Given the description of an element on the screen output the (x, y) to click on. 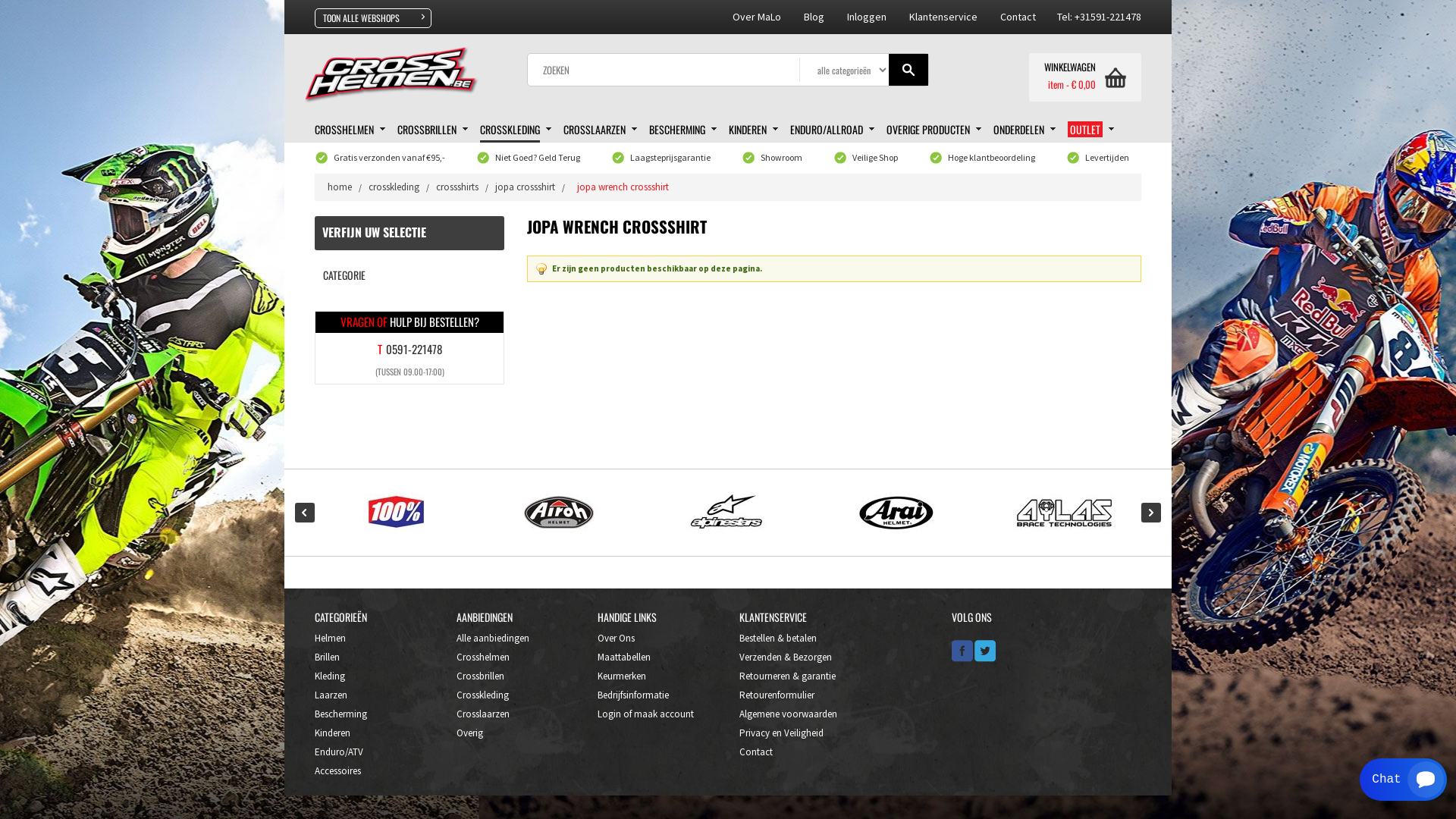
OUTLET Element type: text (1090, 129)
ENDURO/ALLROAD Element type: text (832, 129)
Privacy en Veiligheid Element type: text (781, 732)
Overig Element type: text (469, 732)
WINKELWAGEN Element type: text (1085, 69)
CROSSHELMEN Element type: text (349, 129)
Laarzen Element type: text (330, 694)
CROSSLAARZEN Element type: text (600, 129)
Kleding Element type: text (329, 674)
0591-221478 Element type: text (413, 348)
Over Ons Element type: text (615, 636)
Blog Element type: text (813, 16)
Bescherming Element type: text (340, 712)
Niet Goed? Geld Terug Element type: text (537, 157)
Prev Element type: text (304, 512)
crosskleding Element type: text (393, 186)
Keurmerken Element type: text (621, 674)
Bestellen & betalen Element type: text (777, 636)
Algemene voorwaarden Element type: text (788, 712)
Over MaLo Element type: text (756, 16)
CROSSBRILLEN Element type: text (432, 129)
Klantenservice Element type: text (943, 16)
Showroom Element type: text (781, 157)
Smartsupp widget button Element type: hover (1402, 779)
Crossbrillen Element type: text (480, 674)
Contact Element type: text (755, 750)
Brillen Element type: text (326, 656)
Hoge klantbeoordeling Element type: text (991, 157)
Crosshelmen.be Element type: hover (403, 80)
Retourenformulier Element type: text (776, 694)
OVERIGE PRODUCTEN Element type: text (933, 129)
Helmen Element type: text (329, 636)
Enduro/ATV Element type: text (338, 750)
Accessoires Element type: text (337, 770)
Next Element type: text (1151, 512)
Laagsteprijsgarantie Element type: text (670, 157)
Gaan Element type: text (908, 69)
Maattabellen Element type: text (623, 656)
CROSSKLEDING Element type: text (515, 129)
Retourneren & garantie Element type: text (787, 674)
crossshirts Element type: text (456, 186)
KINDEREN Element type: text (753, 129)
Veilige Shop Element type: text (874, 157)
Levertijden Element type: text (1107, 157)
ONDERDELEN Element type: text (1024, 129)
TOON ALLE WEBSHOPS Element type: text (372, 18)
Crosskleding Element type: text (482, 694)
Login of maak account Element type: text (645, 712)
Crosshelmen Element type: text (482, 656)
Verzenden & Bezorgen Element type: text (785, 656)
jopa crossshirt Element type: text (524, 186)
BESCHERMING Element type: text (682, 129)
home Element type: text (339, 186)
Alle aanbiedingen Element type: text (492, 636)
Contact Element type: text (1028, 16)
Crosslaarzen Element type: text (482, 712)
Kinderen Element type: text (332, 732)
Inloggen Element type: text (866, 16)
Bedrijfsinformatie Element type: text (632, 694)
